Given the description of an element on the screen output the (x, y) to click on. 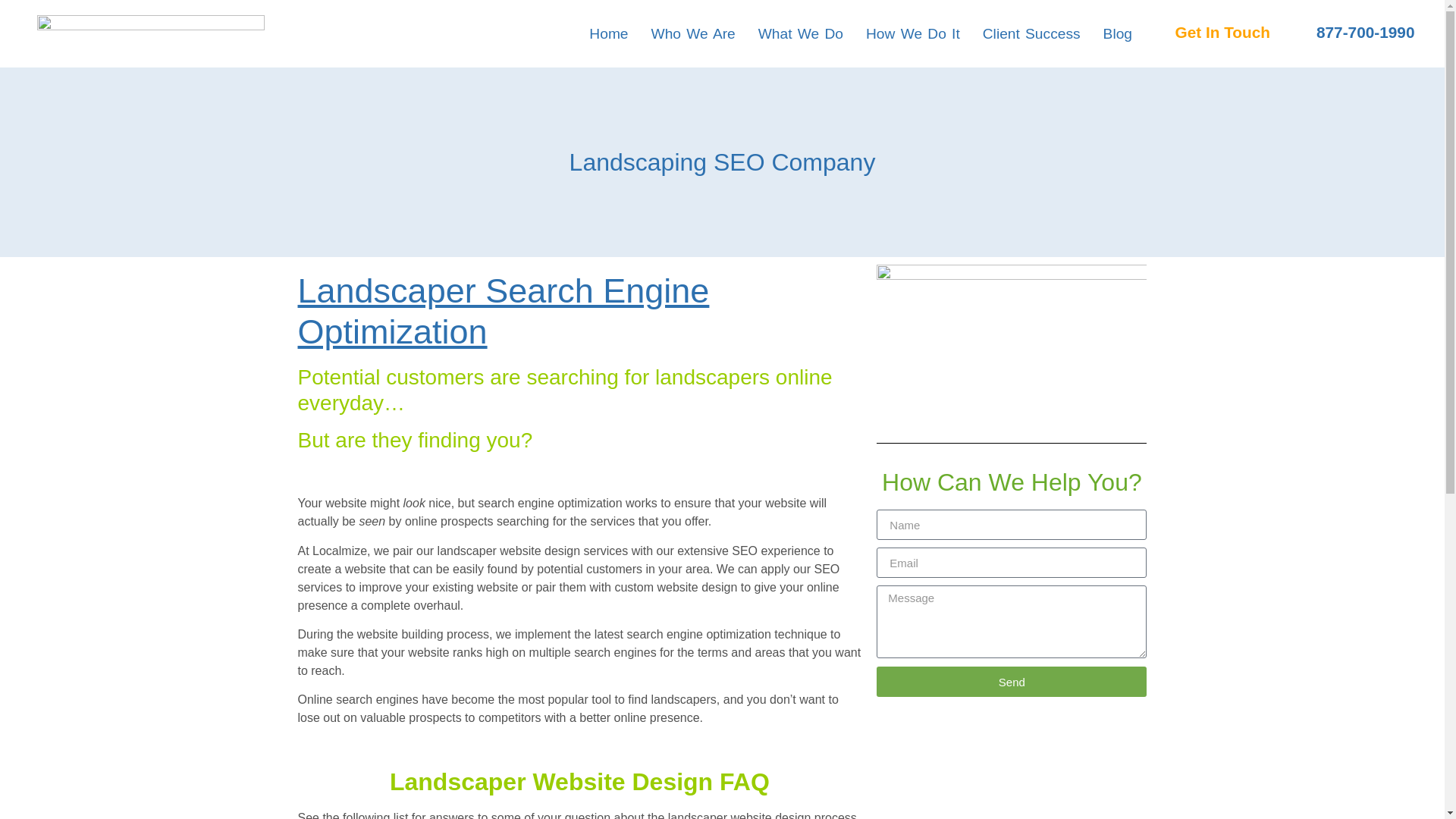
Who We Are (693, 33)
Client Success (1031, 33)
Blog (1117, 33)
877-700-1990 (1365, 31)
How We Do It (912, 33)
Send (1011, 681)
What We Do (800, 33)
Get In Touch (1221, 31)
Home (608, 33)
